Given the description of an element on the screen output the (x, y) to click on. 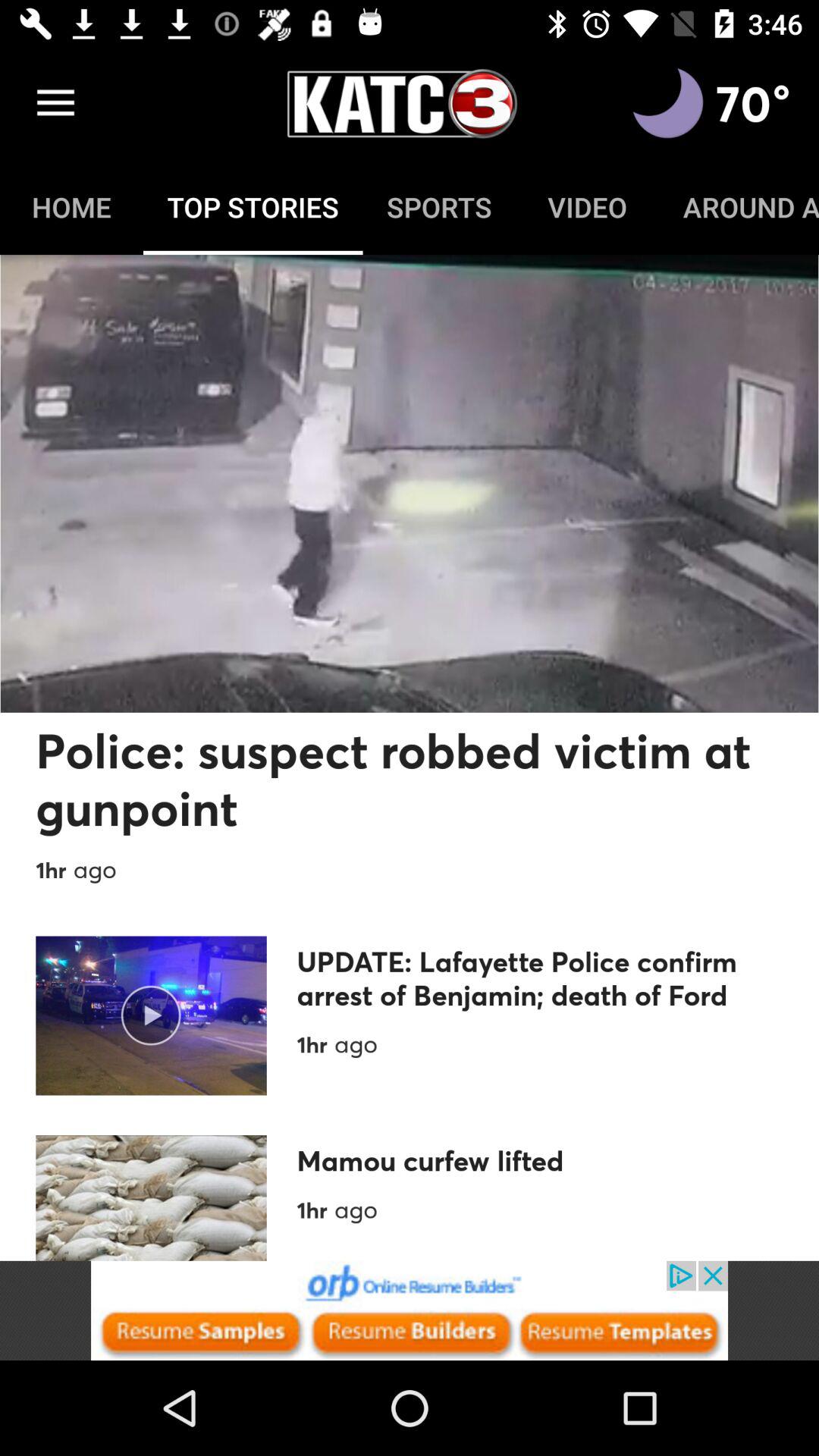
go to advertisement page (409, 1310)
